Given the description of an element on the screen output the (x, y) to click on. 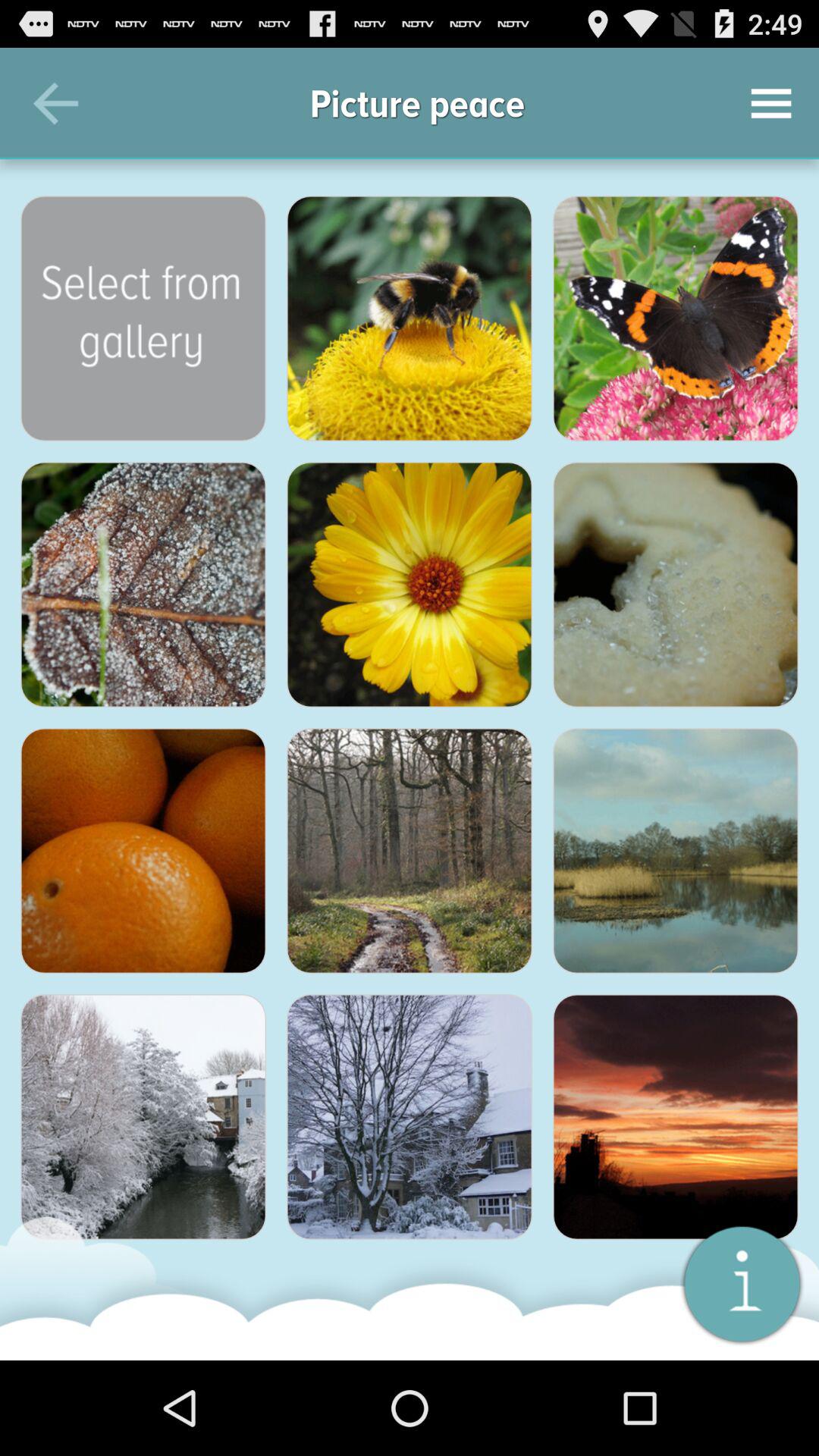
see more pictures (143, 318)
